Given the description of an element on the screen output the (x, y) to click on. 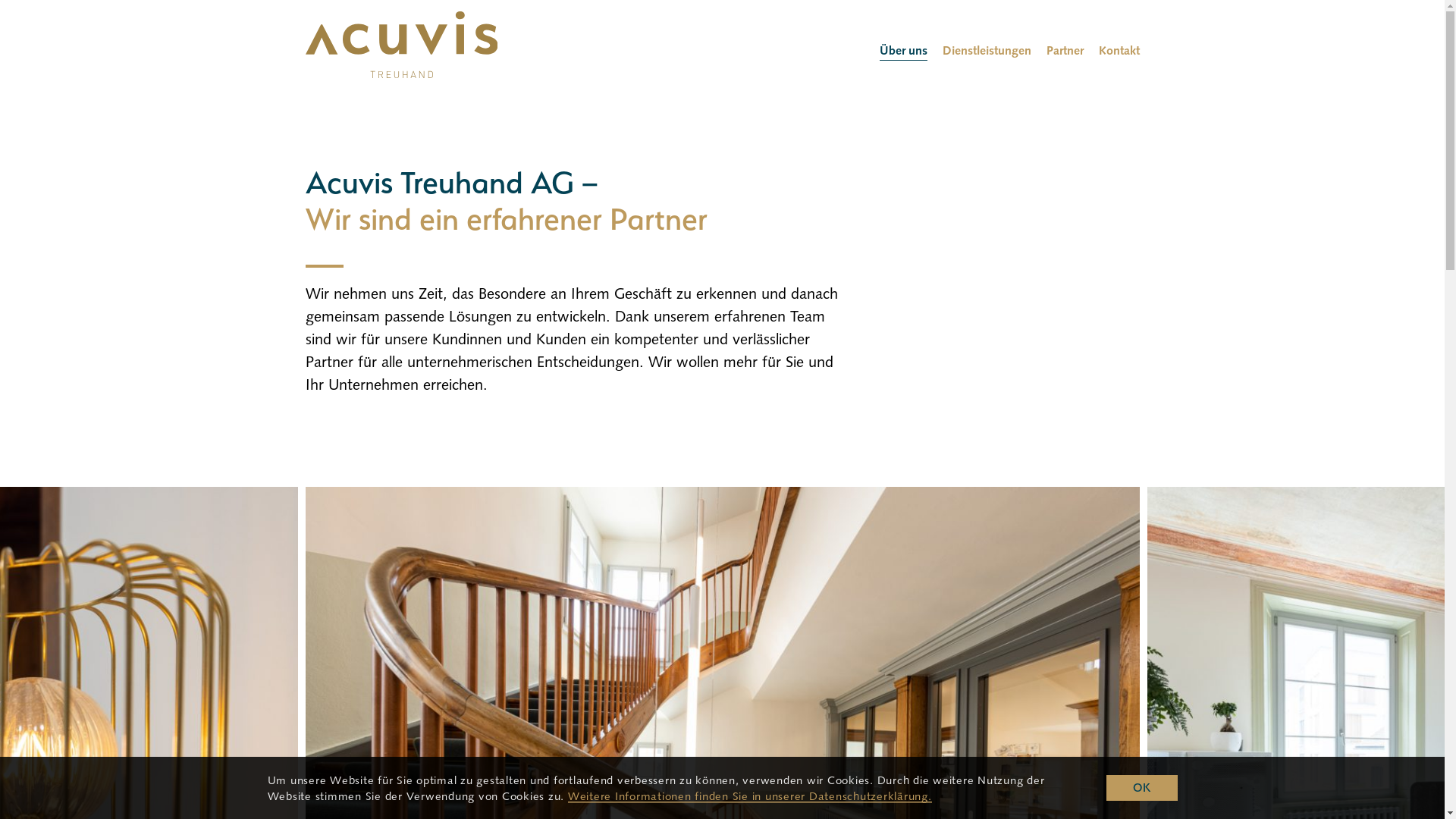
Kontakt Element type: text (1118, 50)
OK Element type: text (1141, 788)
Dienstleistungen Element type: text (985, 50)
Partner Element type: text (1064, 50)
